Given the description of an element on the screen output the (x, y) to click on. 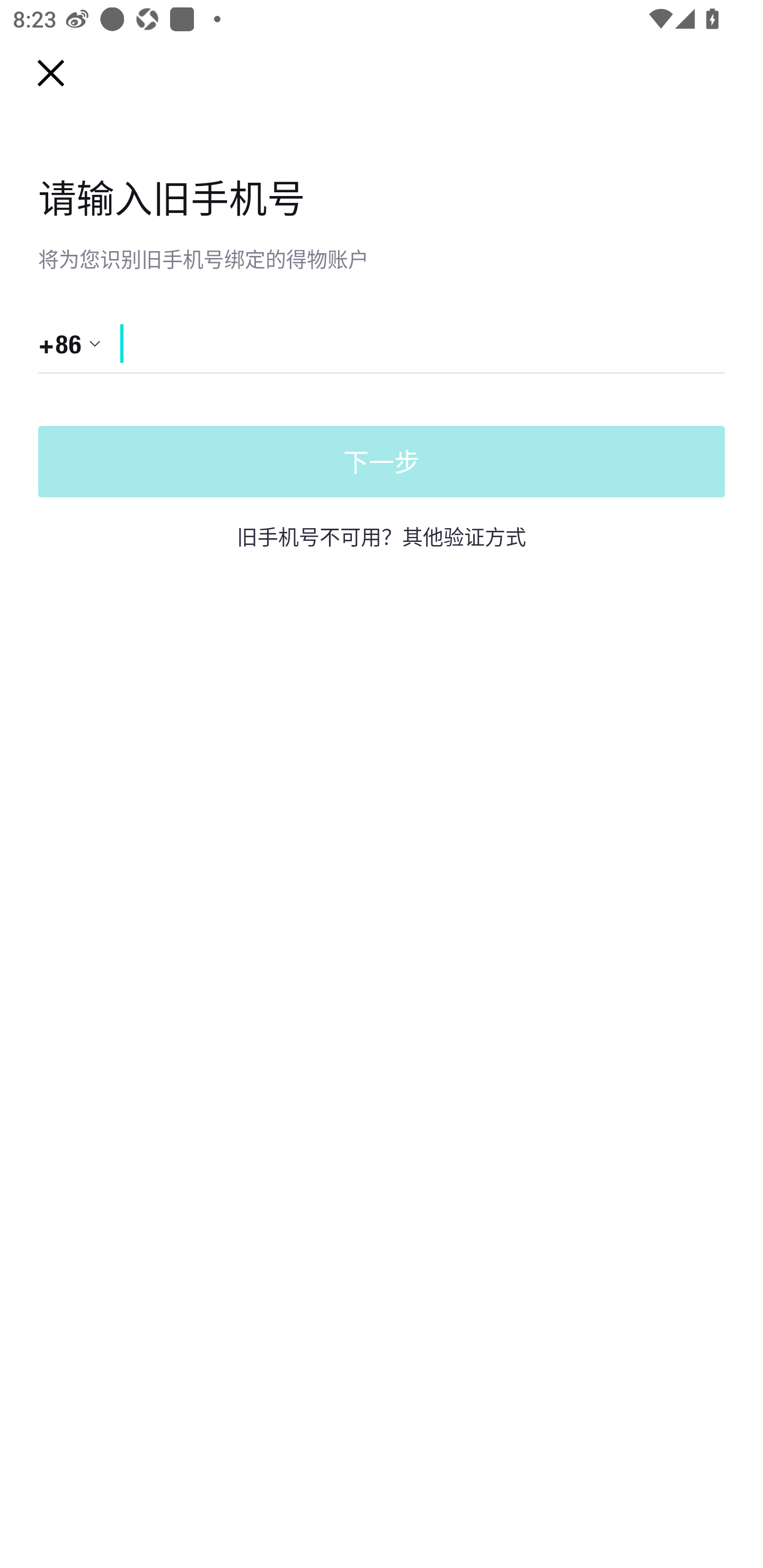
+86 (69, 343)
  (400, 343)
下一步 (381, 461)
旧手机号不可用？其他验证方式 (381, 536)
